Given the description of an element on the screen output the (x, y) to click on. 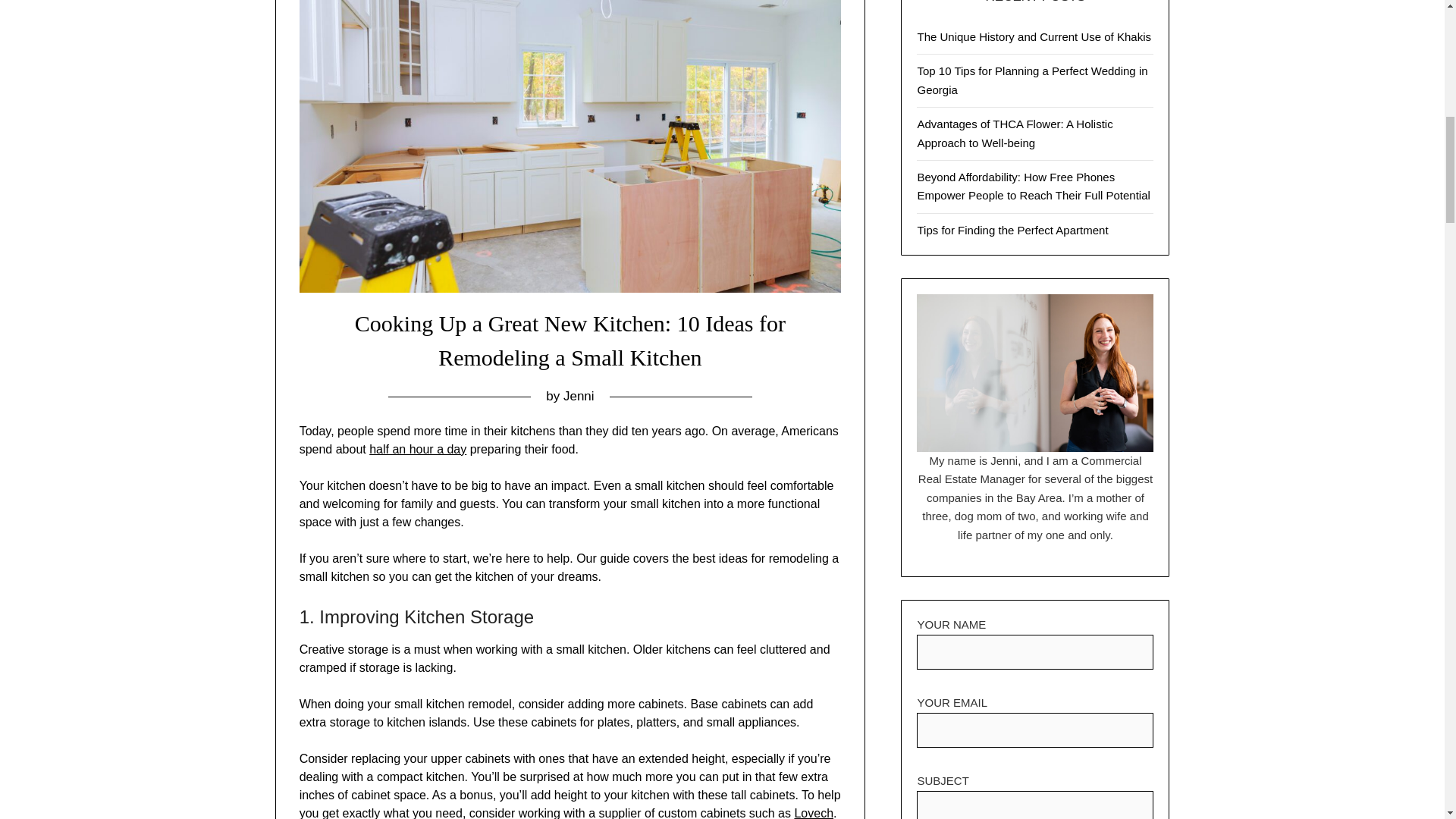
half an hour a day (417, 449)
Tips for Finding the Perfect Apartment (1012, 229)
Advantages of THCA Flower: A Holistic Approach to Well-being (1014, 132)
Top 10 Tips for Planning a Perfect Wedding in Georgia (1032, 79)
Lovech (812, 812)
The Unique History and Current Use of Khakis (1033, 36)
Jenni (578, 396)
